Given the description of an element on the screen output the (x, y) to click on. 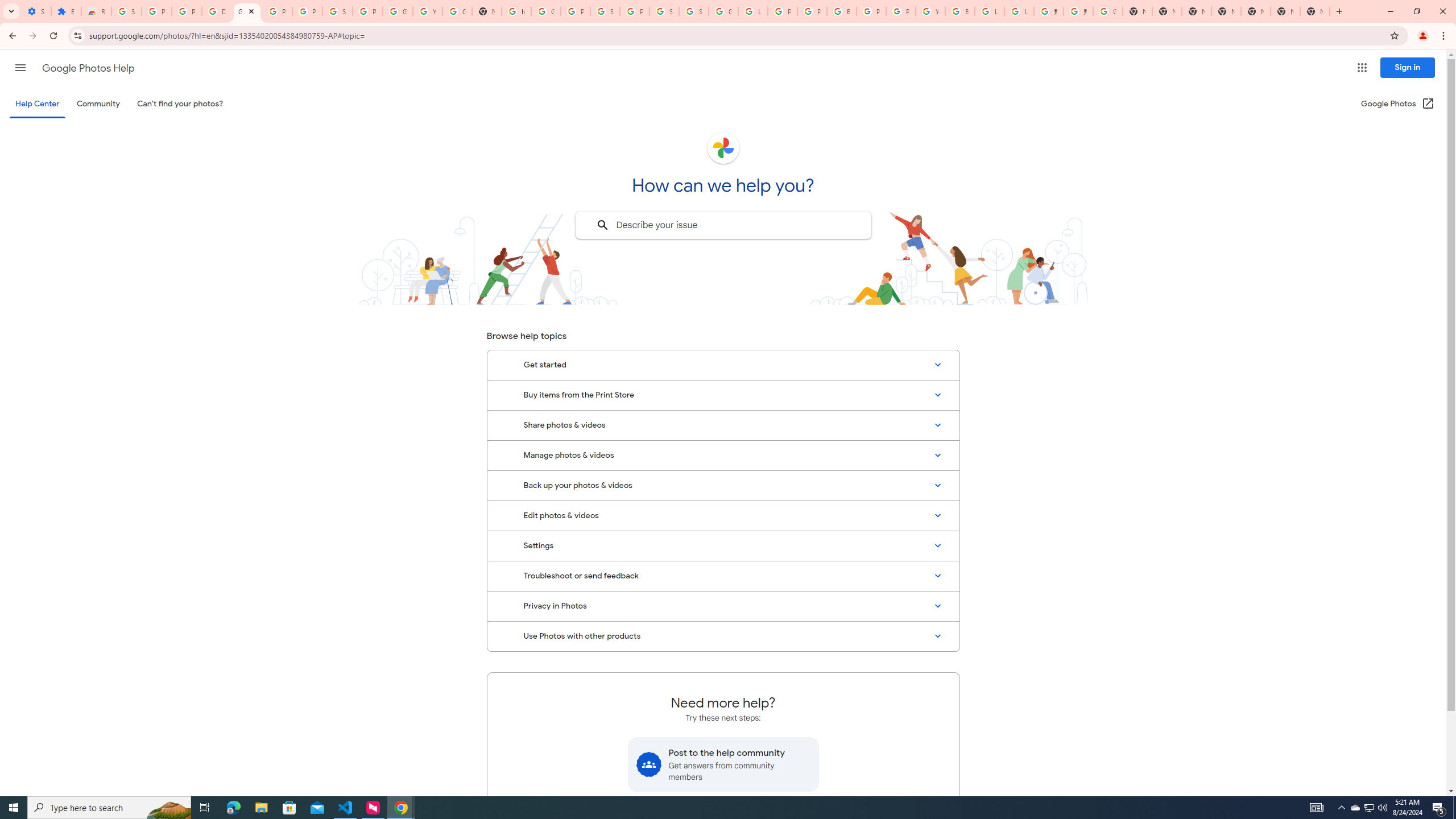
Settings - On startup (36, 11)
Privacy Help Center - Policies Help (811, 11)
